Given the description of an element on the screen output the (x, y) to click on. 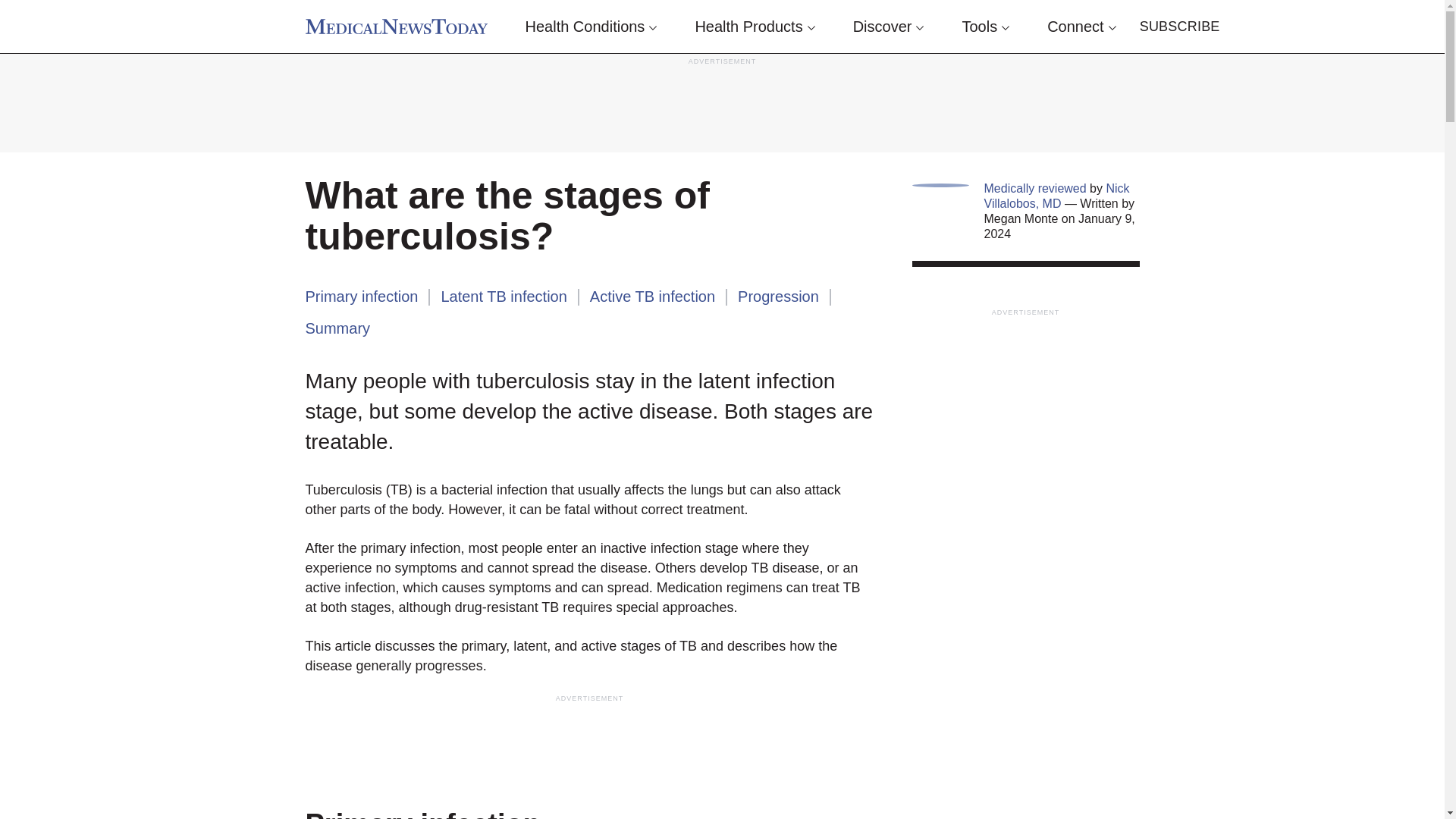
SUBSCRIBE (1179, 26)
Connect (1081, 26)
Tools (984, 26)
Health Conditions (591, 26)
Summary (337, 328)
Active TB infection (652, 296)
Latent TB infection (503, 296)
Primary infection (361, 296)
Health Products (753, 26)
Progression (777, 296)
